Given the description of an element on the screen output the (x, y) to click on. 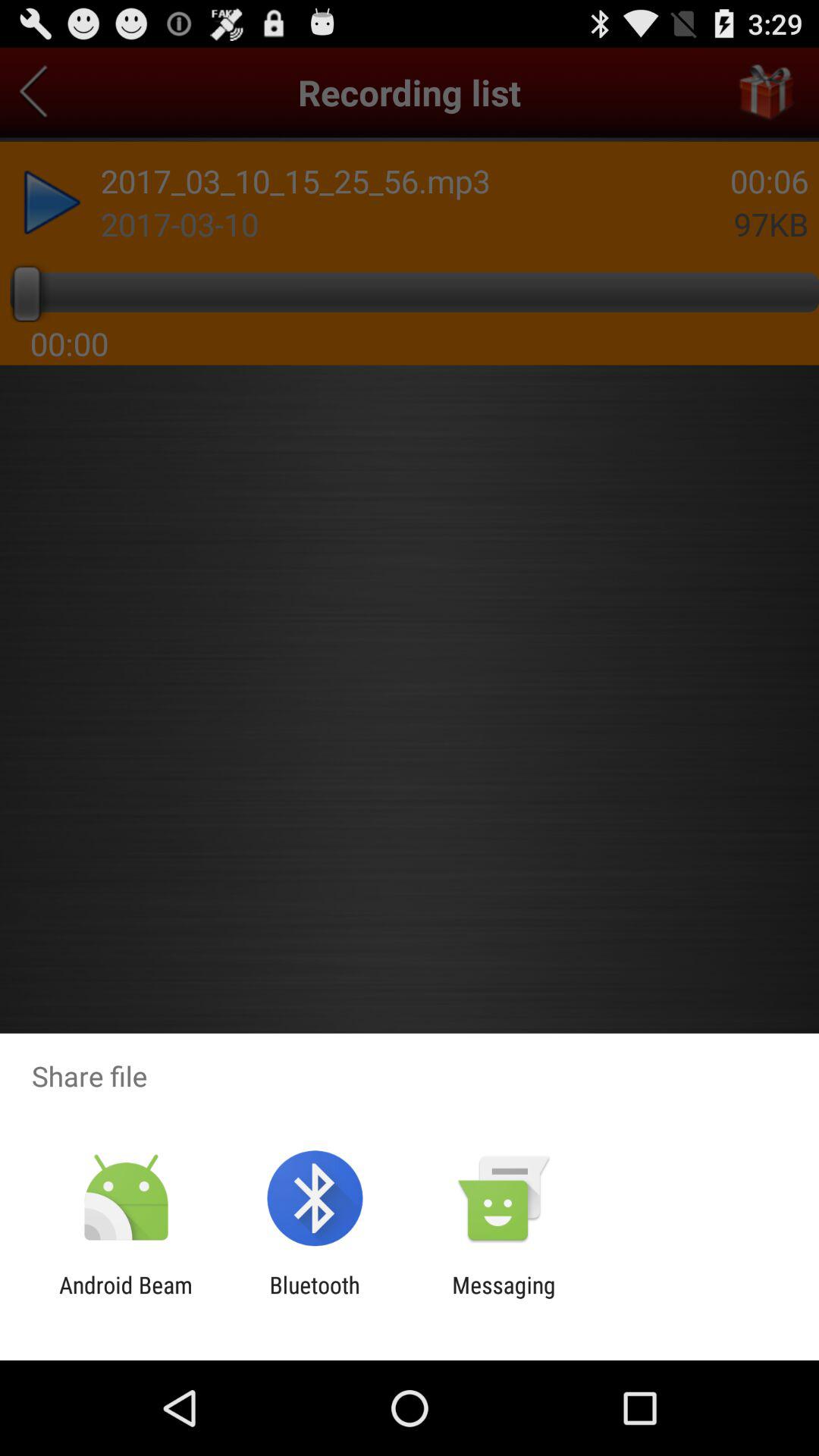
launch the android beam (125, 1298)
